Given the description of an element on the screen output the (x, y) to click on. 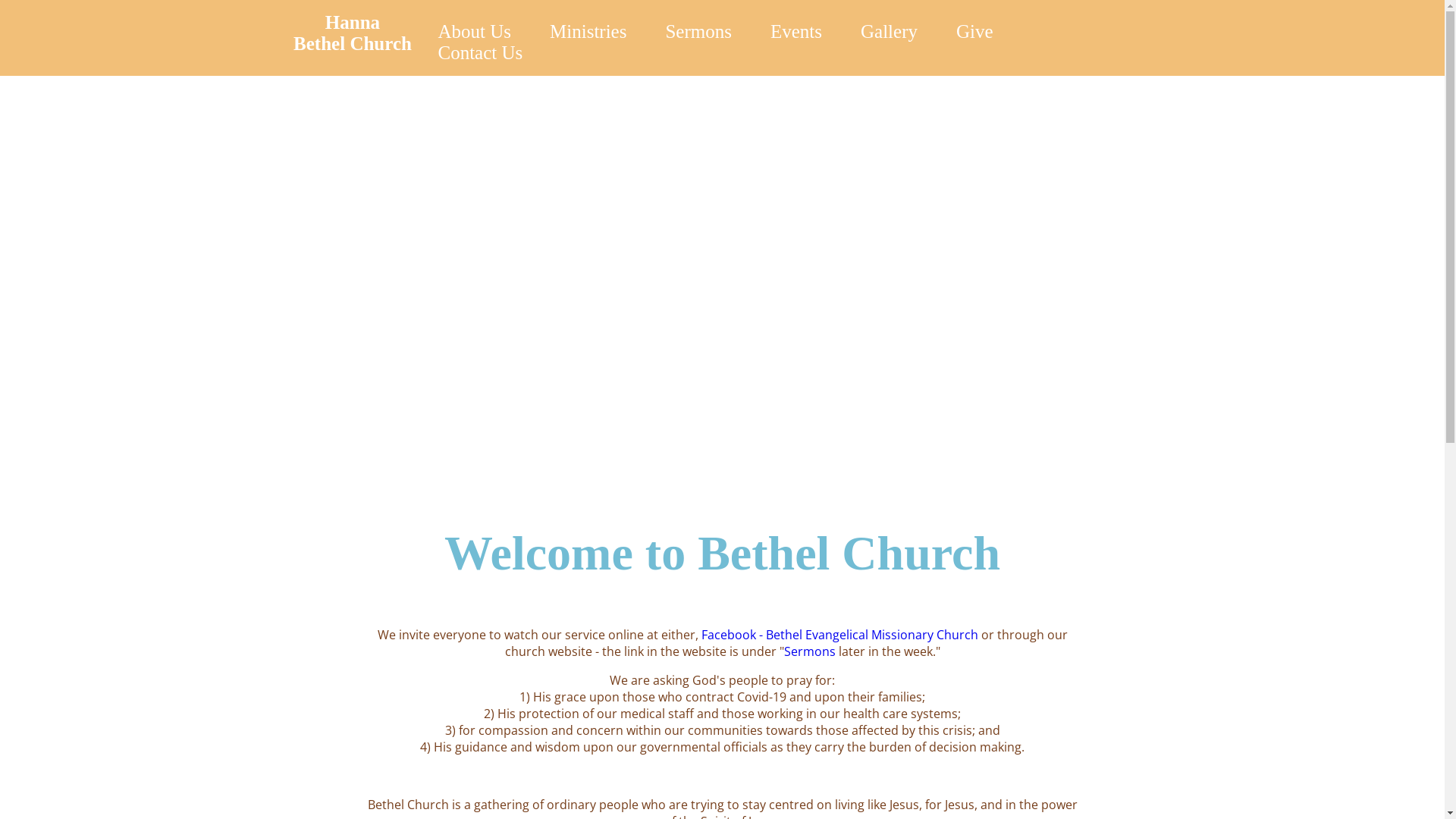
Hanna
Bethel Church Element type: text (352, 32)
About Us Element type: text (474, 31)
Sermons Element type: text (809, 651)
Give Element type: text (974, 31)
Contact Us Element type: text (480, 52)
Facebook - Bethel Evangelical Missionary Church Element type: text (838, 634)
Events Element type: text (796, 31)
Sermons Element type: text (698, 31)
Gallery Element type: text (888, 31)
Ministries Element type: text (587, 31)
